Given the description of an element on the screen output the (x, y) to click on. 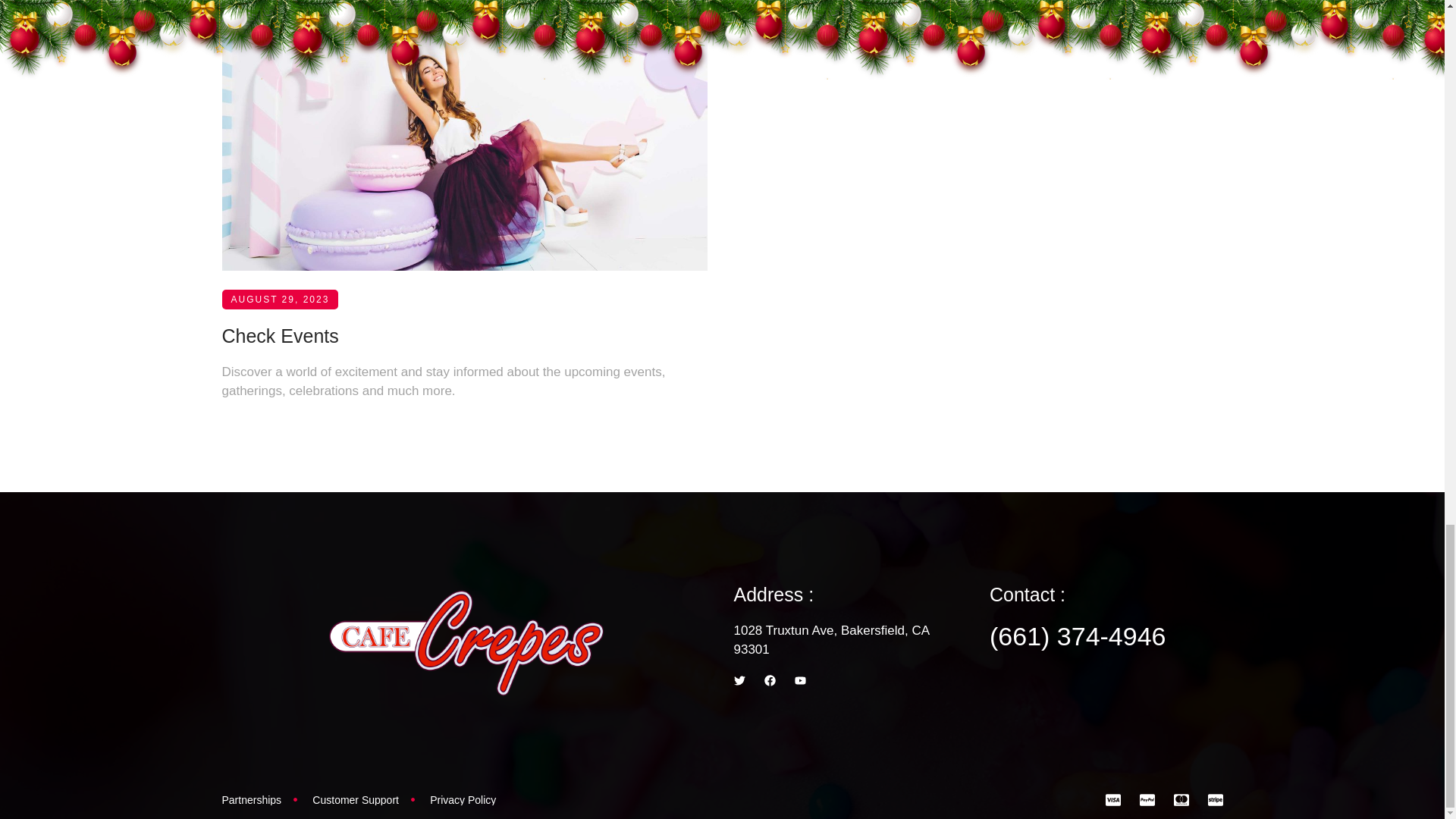
AUGUST 29, 2023 (279, 346)
New Website (277, 34)
Check Events (279, 371)
AUGUST 29, 2023 (279, 26)
